Given the description of an element on the screen output the (x, y) to click on. 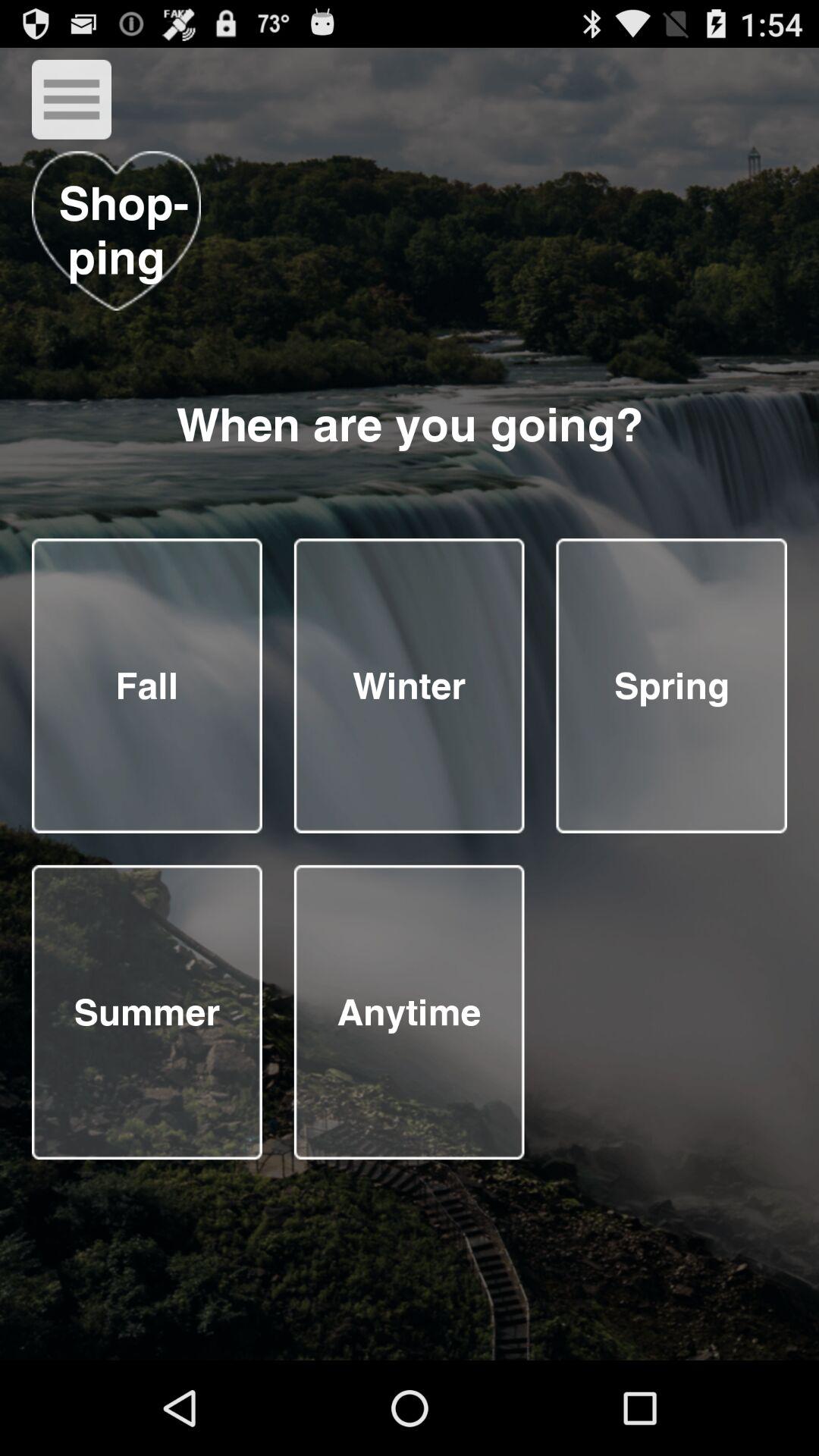
menu button (71, 99)
